Given the description of an element on the screen output the (x, y) to click on. 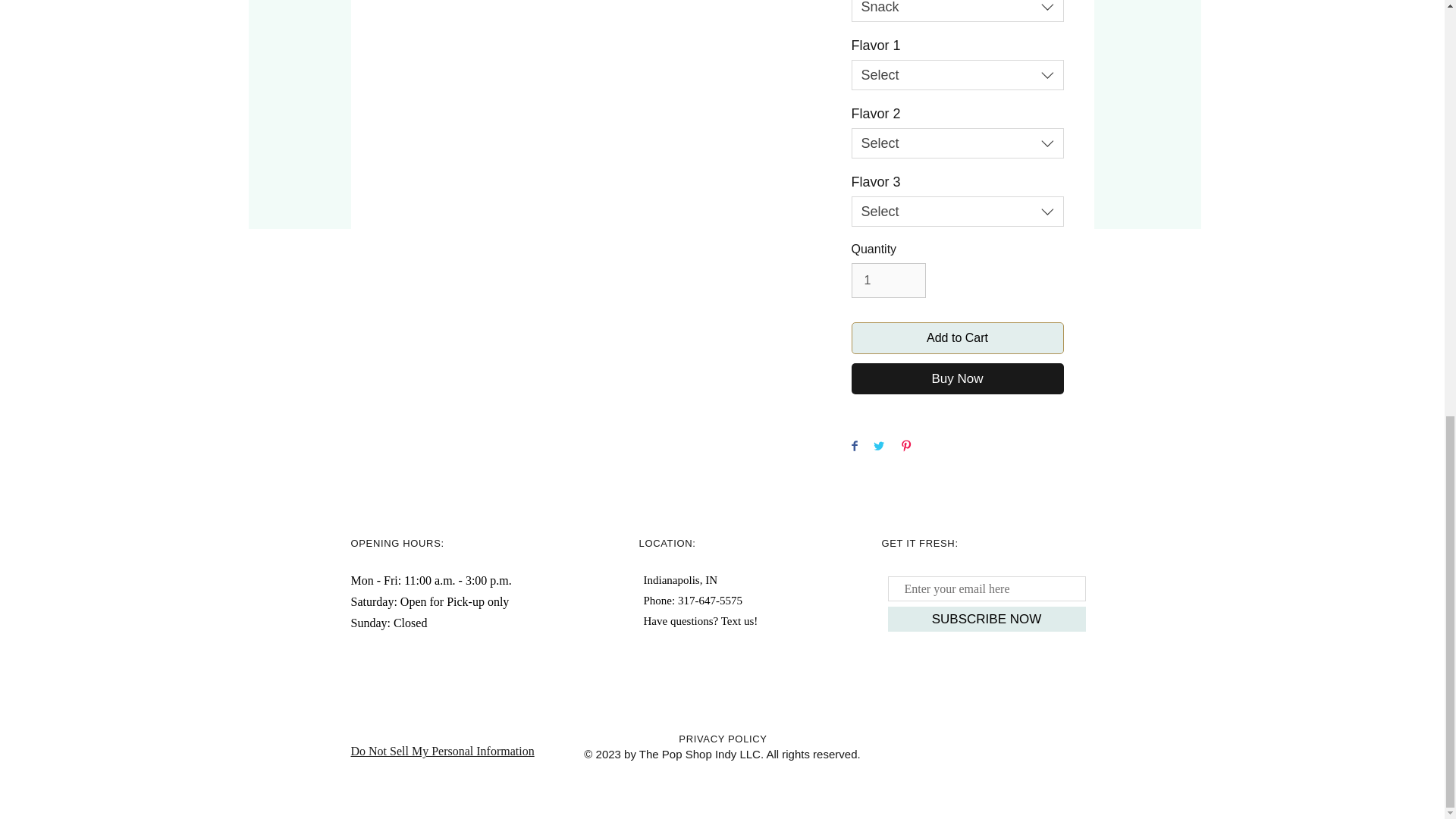
Add to Cart (956, 337)
PRIVACY POLICY (722, 738)
Select (956, 142)
Snack (956, 11)
1 (887, 280)
Select (956, 211)
Do Not Sell My Personal Information (442, 751)
Buy Now (956, 378)
SUBSCRIBE NOW (985, 618)
Select (956, 74)
